Given the description of an element on the screen output the (x, y) to click on. 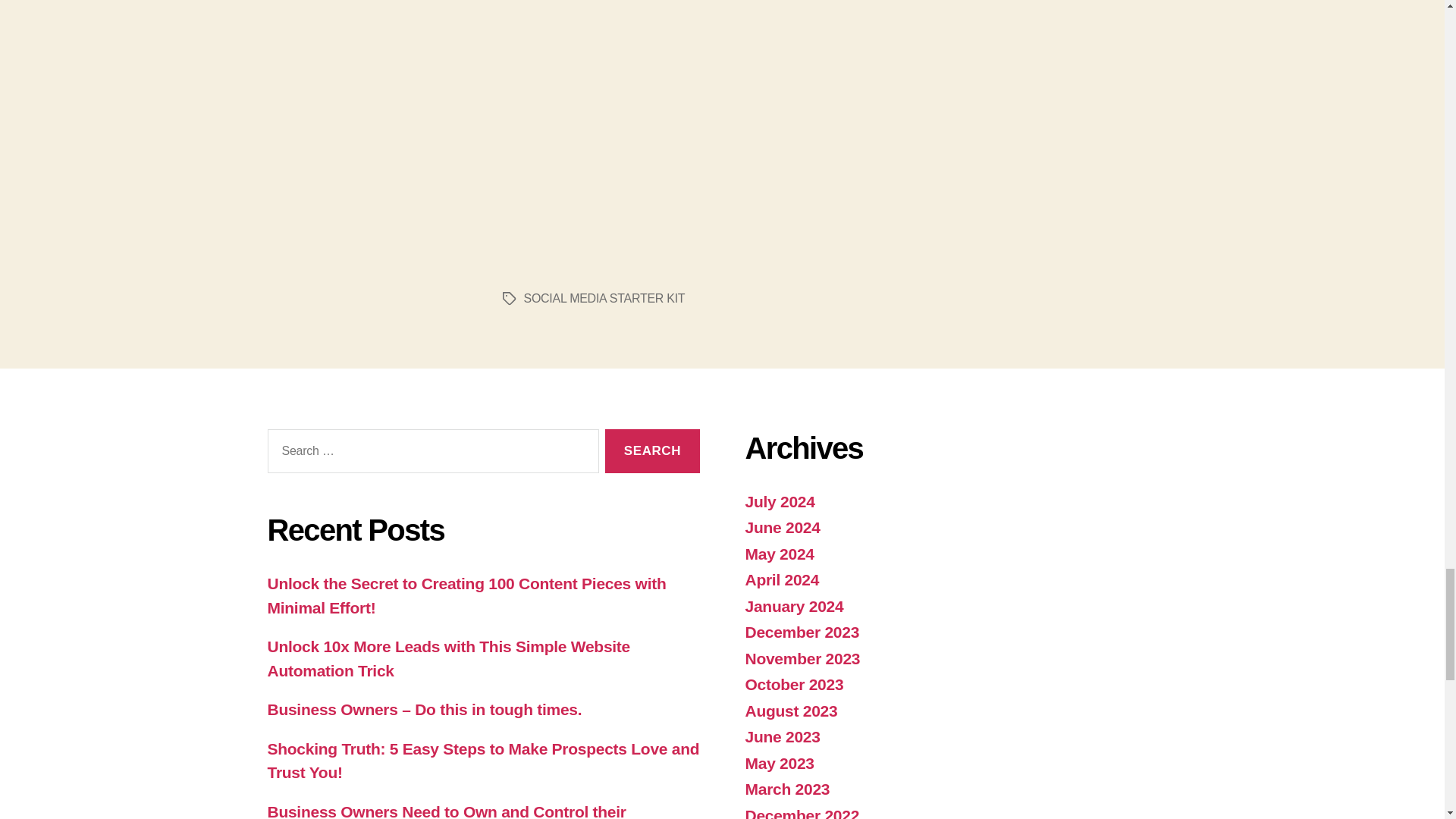
May 2024 (778, 553)
Business Owners Need to Own and Control their Customer Data (446, 811)
July 2024 (778, 501)
June 2023 (781, 736)
October 2023 (793, 683)
November 2023 (802, 658)
August 2023 (790, 710)
January 2024 (793, 606)
